Given the description of an element on the screen output the (x, y) to click on. 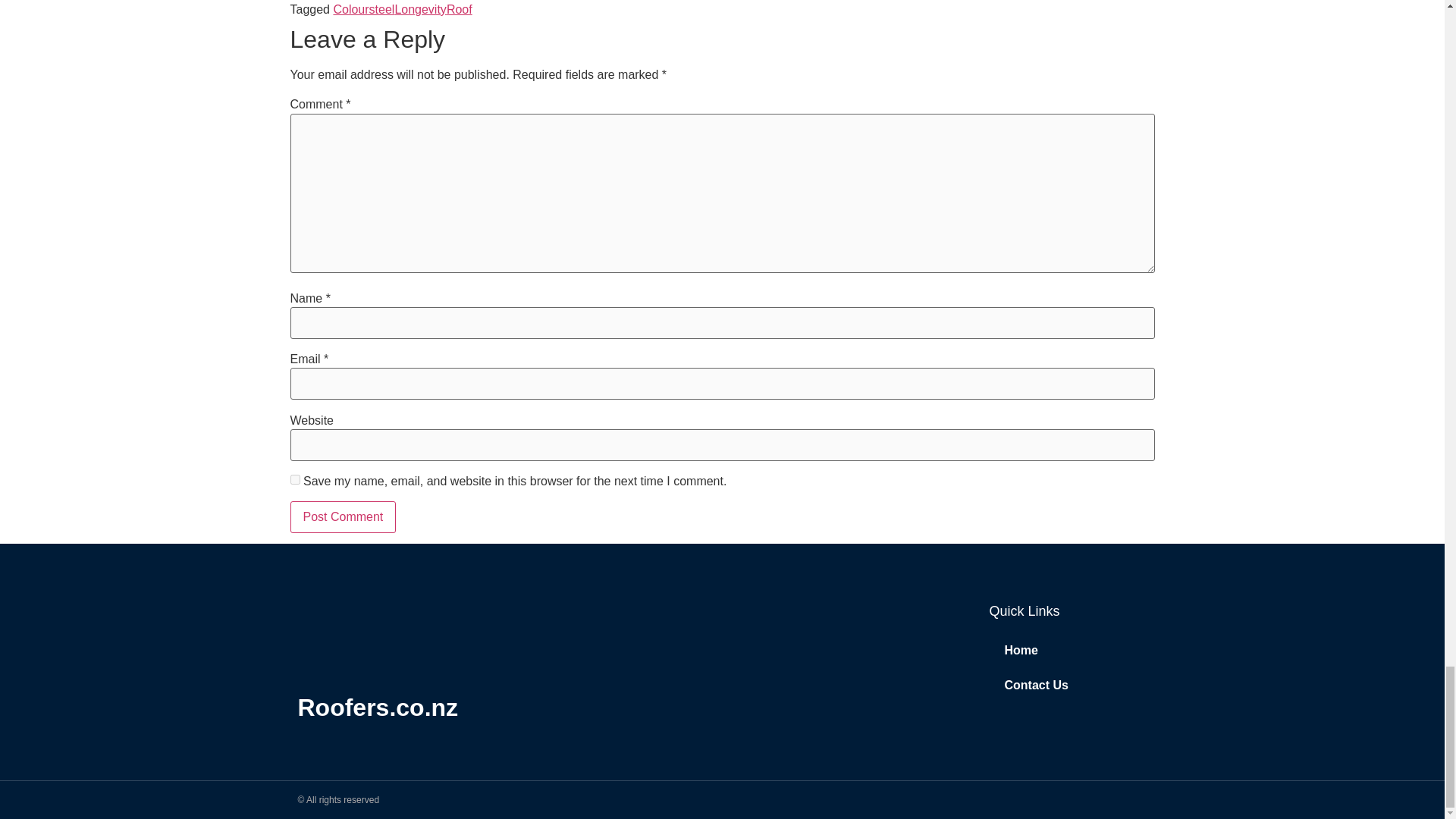
Home (1067, 650)
yes (294, 479)
Coloursteel (363, 9)
Roof (458, 9)
Longevity (420, 9)
Contact Us (1067, 685)
Post Comment (342, 517)
Post Comment (342, 517)
